Given the description of an element on the screen output the (x, y) to click on. 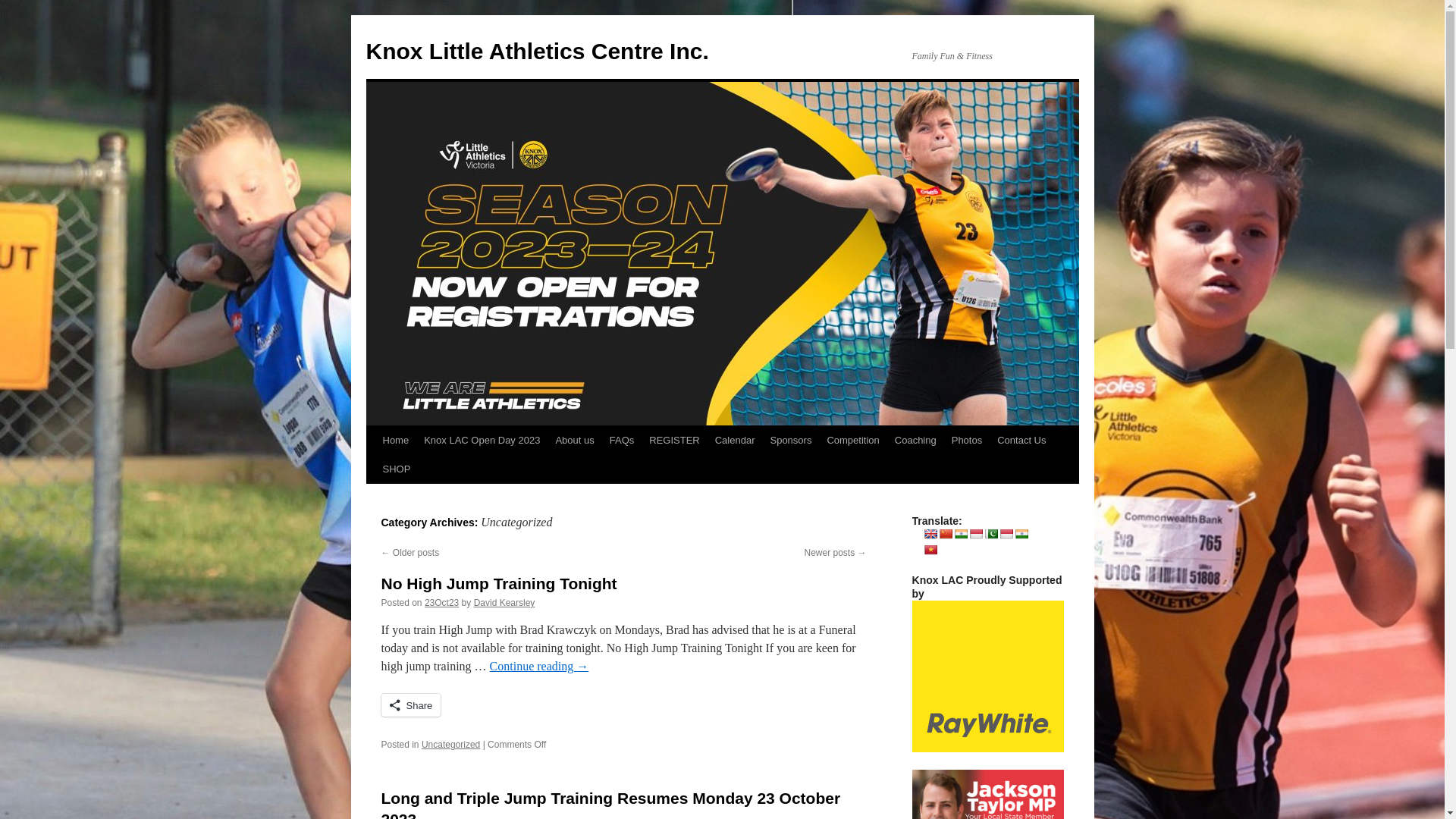
Photos Element type: text (966, 440)
No High Jump Training Tonight Element type: text (498, 583)
Contact Us Element type: text (1021, 440)
Hindi Element type: hover (960, 533)
Sundanese Element type: hover (1006, 533)
23Oct23 Element type: text (441, 602)
Skip to content Element type: text (372, 468)
English Element type: hover (930, 533)
Chinese (Simplified) Element type: hover (945, 533)
Calendar Element type: text (734, 440)
FAQs Element type: text (622, 440)
Knox Little Athletics Centre Inc. Element type: text (536, 50)
Uncategorized Element type: text (450, 744)
Coaching Element type: text (915, 440)
Tamil Element type: hover (1021, 533)
Sponsors Element type: text (790, 440)
Knox LAC Open Day 2023 Element type: text (481, 440)
About us Element type: text (574, 440)
Punjabi Element type: hover (990, 533)
Competition Element type: text (852, 440)
David Kearsley Element type: text (504, 602)
Home Element type: text (395, 440)
REGISTER Element type: text (673, 440)
Knox LAC Proudly Supported by Element type: hover (987, 676)
Vietnamese Element type: hover (930, 549)
Indonesian Element type: hover (975, 533)
SHOP Element type: text (395, 469)
Share Element type: text (410, 704)
